Given the description of an element on the screen output the (x, y) to click on. 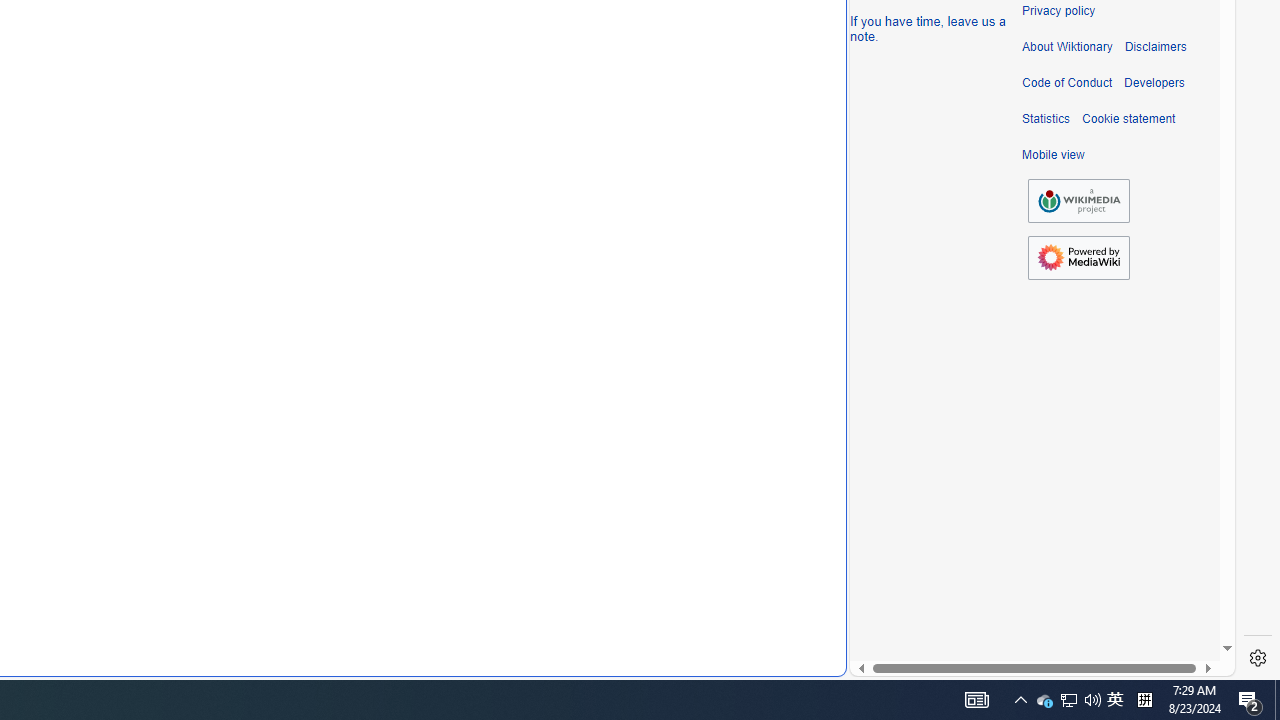
Cookie statement (1128, 119)
Disclaimers (1154, 47)
Code of Conduct (1067, 83)
Wikimedia Foundation (1078, 201)
AutomationID: footer-poweredbyico (1078, 257)
AutomationID: footer-copyrightico (1078, 200)
